Given the description of an element on the screen output the (x, y) to click on. 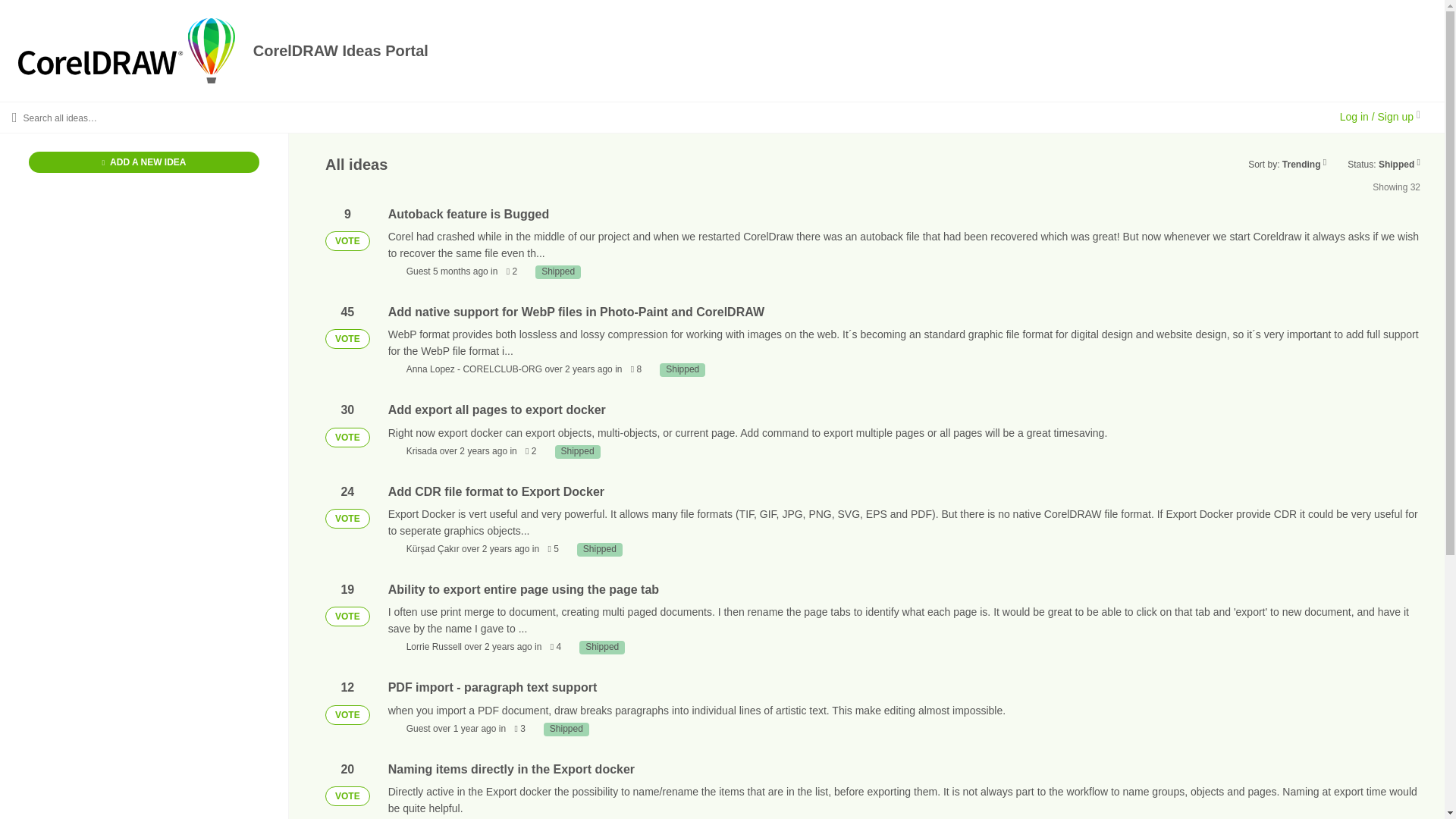
VOTE (346, 518)
VOTE (346, 616)
Shipped (601, 647)
VOTE (346, 437)
VOTE (346, 714)
ADD A NEW IDEA (144, 161)
Shipped (557, 272)
Shipped (681, 369)
VOTE (346, 338)
VOTE (346, 795)
